Given the description of an element on the screen output the (x, y) to click on. 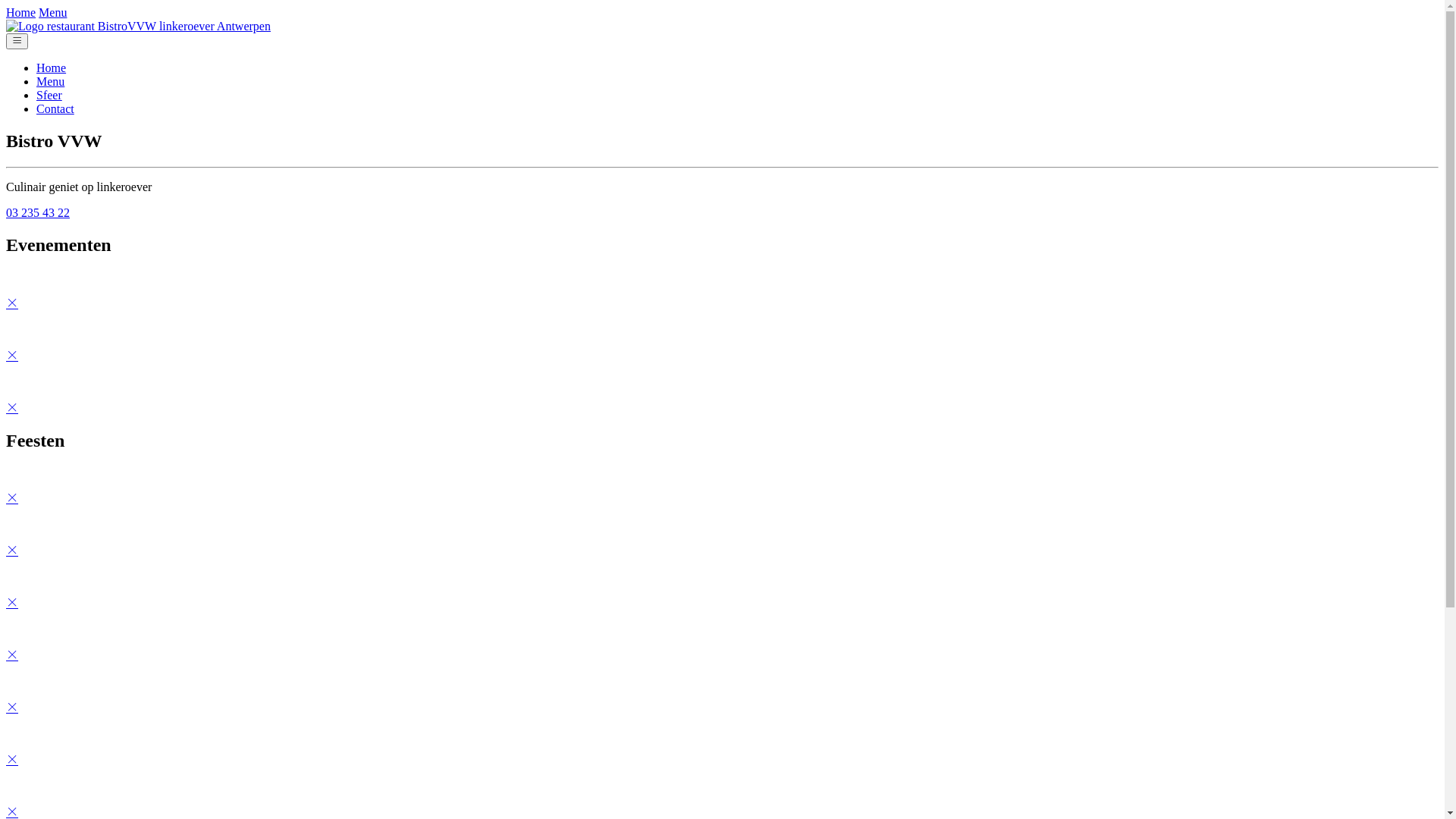
Menu Element type: text (50, 81)
Contact Element type: text (55, 108)
Home Element type: text (20, 12)
Menu Element type: text (52, 12)
Home Element type: text (50, 67)
Sfeer Element type: text (49, 94)
03 235 43 22 Element type: text (37, 212)
